Given the description of an element on the screen output the (x, y) to click on. 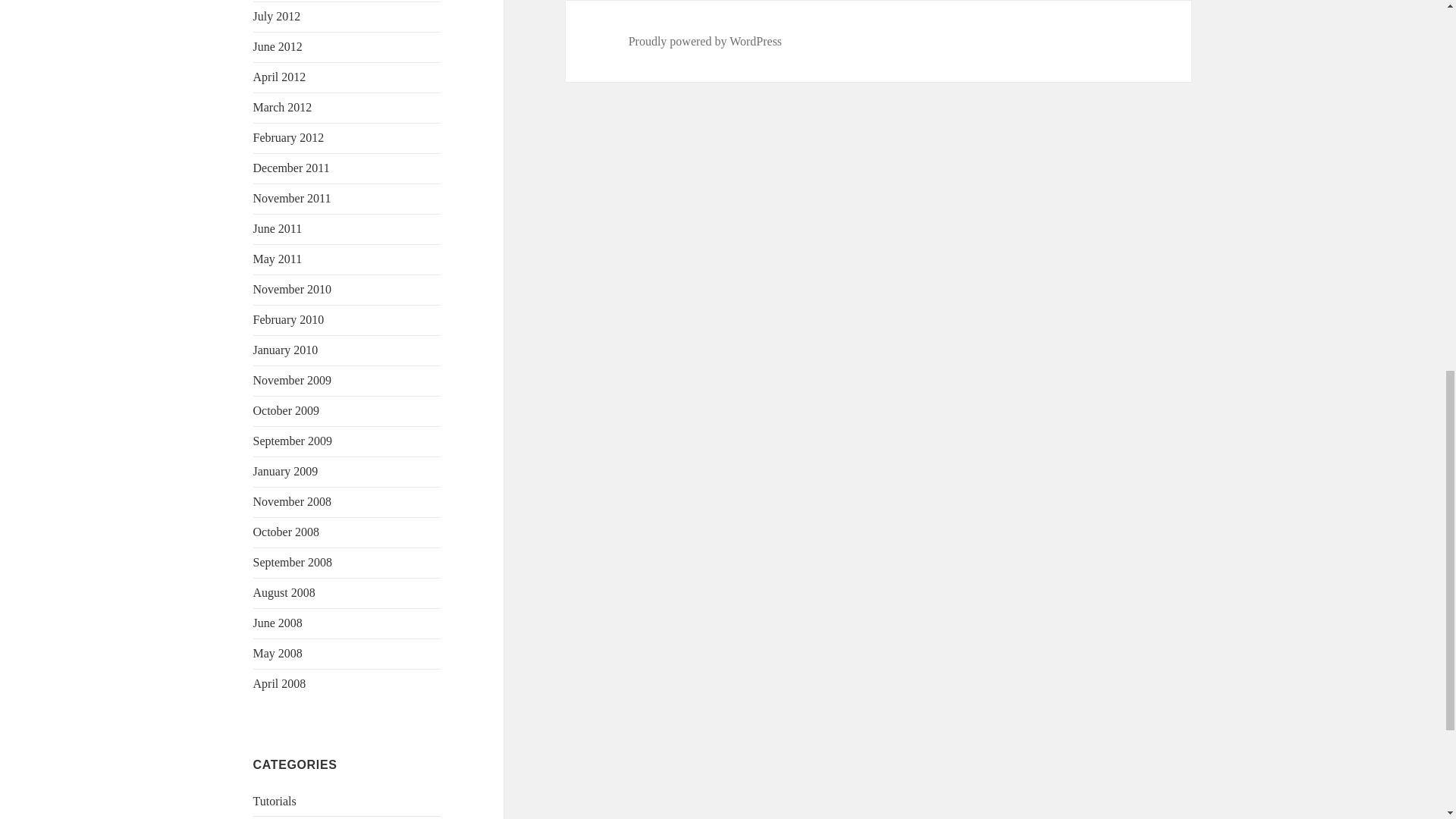
July 2012 (277, 15)
January 2010 (285, 349)
February 2012 (288, 137)
November 2011 (292, 197)
June 2011 (277, 228)
October 2009 (286, 410)
September 2009 (292, 440)
August 2008 (284, 592)
November 2008 (292, 501)
December 2011 (291, 167)
May 2008 (277, 653)
November 2010 (292, 288)
June 2008 (277, 622)
April 2012 (279, 76)
June 2012 (277, 46)
